Given the description of an element on the screen output the (x, y) to click on. 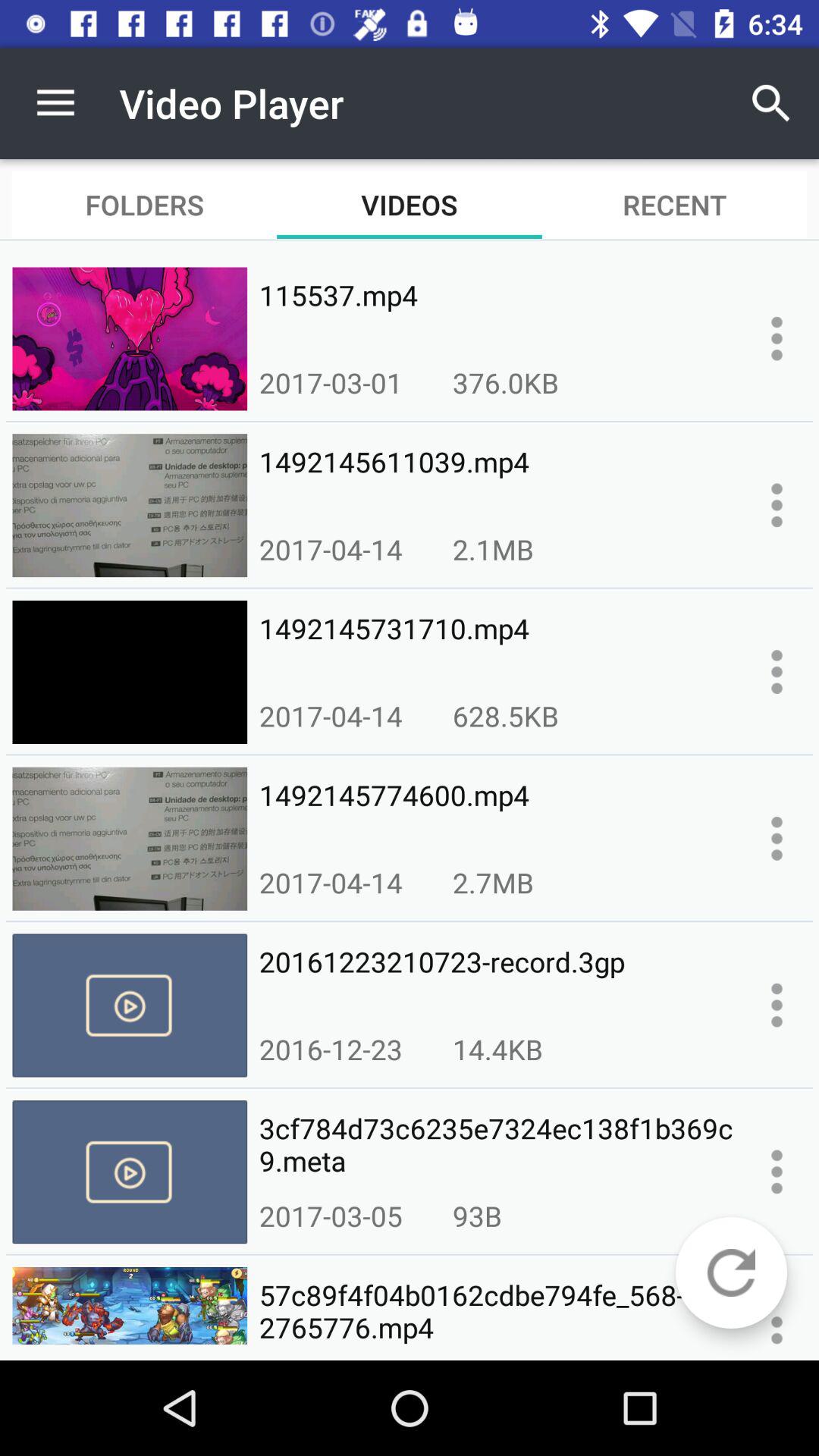
settings on the picture (776, 505)
